Given the description of an element on the screen output the (x, y) to click on. 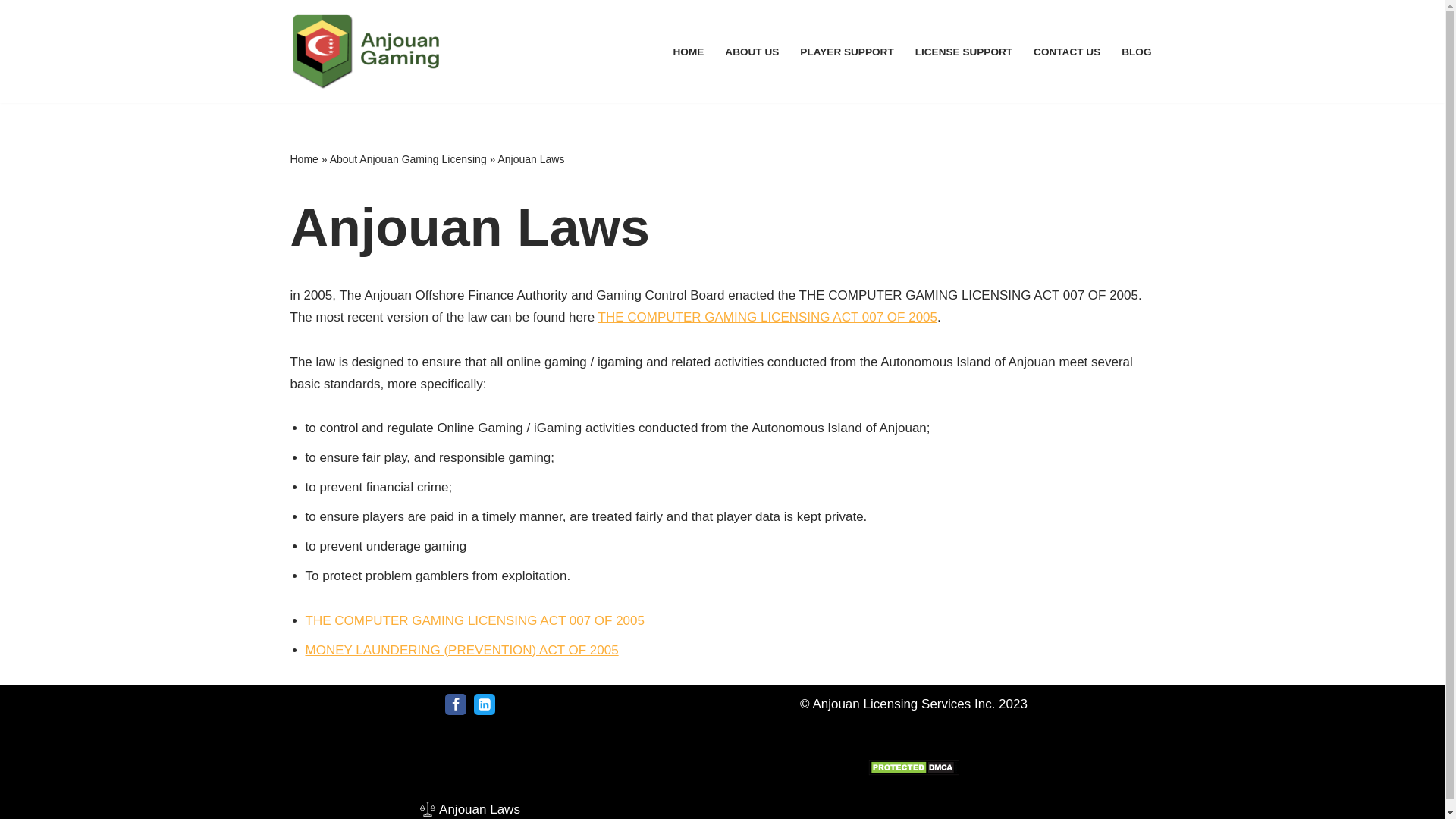
THE COMPUTER GAMING LICENSING ACT 007 OF 2005 (473, 620)
THE COMPUTER GAMING LICENSING ACT 007 OF 2005 (767, 317)
BLOG (1136, 51)
LICENSE SUPPORT (963, 51)
Skip to content (11, 31)
Anjouan Laws (469, 808)
HOME (688, 51)
PLAYER SUPPORT (846, 51)
Home (303, 159)
About Anjouan Gaming Licensing (408, 159)
LinkedIn (484, 703)
DMCA.com Protection Status (913, 771)
ABOUT US (751, 51)
CONTACT US (1066, 51)
Facebook (455, 703)
